Given the description of an element on the screen output the (x, y) to click on. 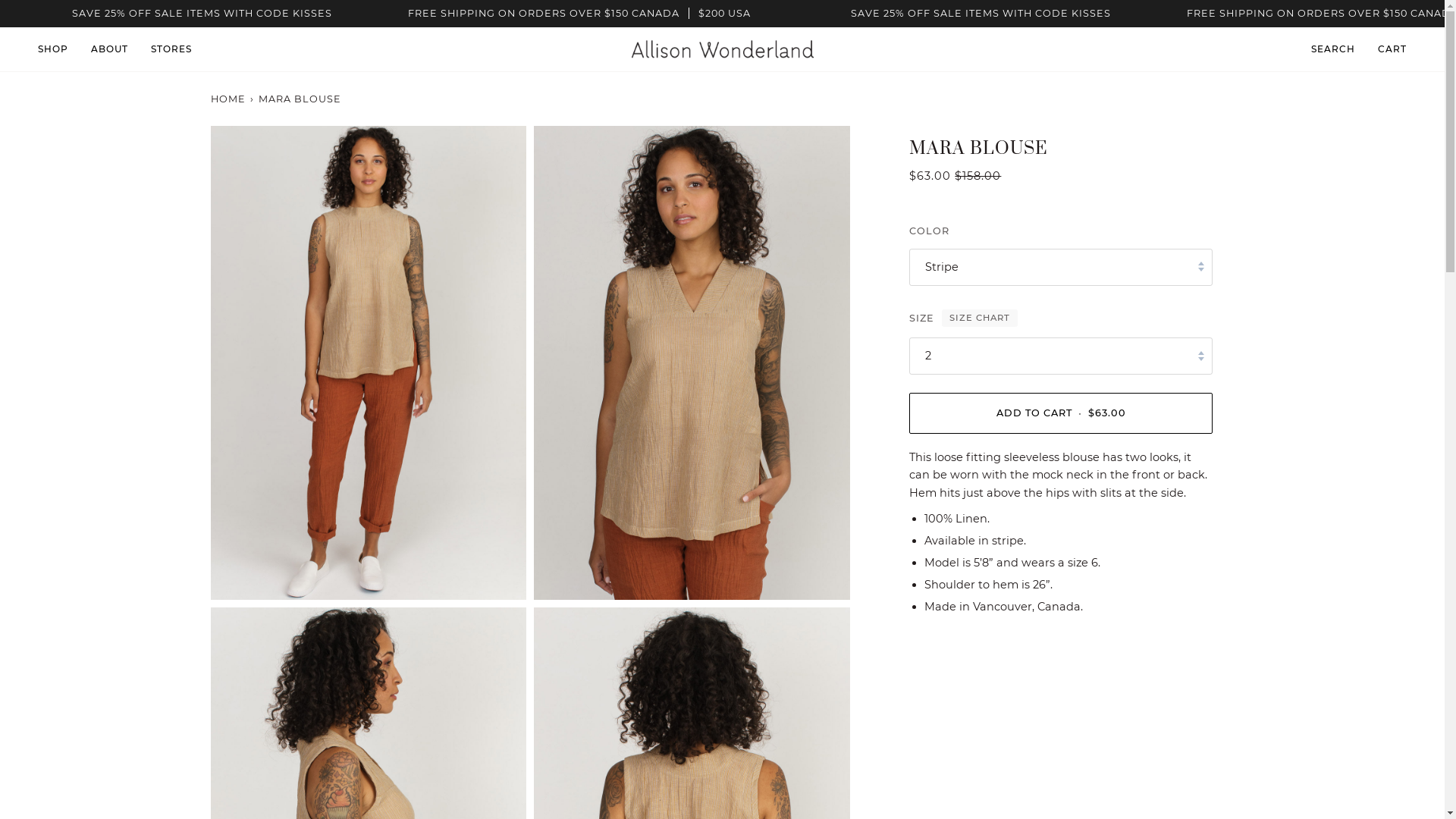
SEARCH Element type: text (1332, 49)
SHOP Element type: text (58, 49)
Stripe Element type: text (1060, 266)
CART Element type: text (1392, 49)
HOME Element type: text (228, 97)
STORES Element type: text (171, 49)
SIZE CHART Element type: text (979, 318)
2 Element type: text (1060, 355)
ABOUT Element type: text (109, 49)
